Given the description of an element on the screen output the (x, y) to click on. 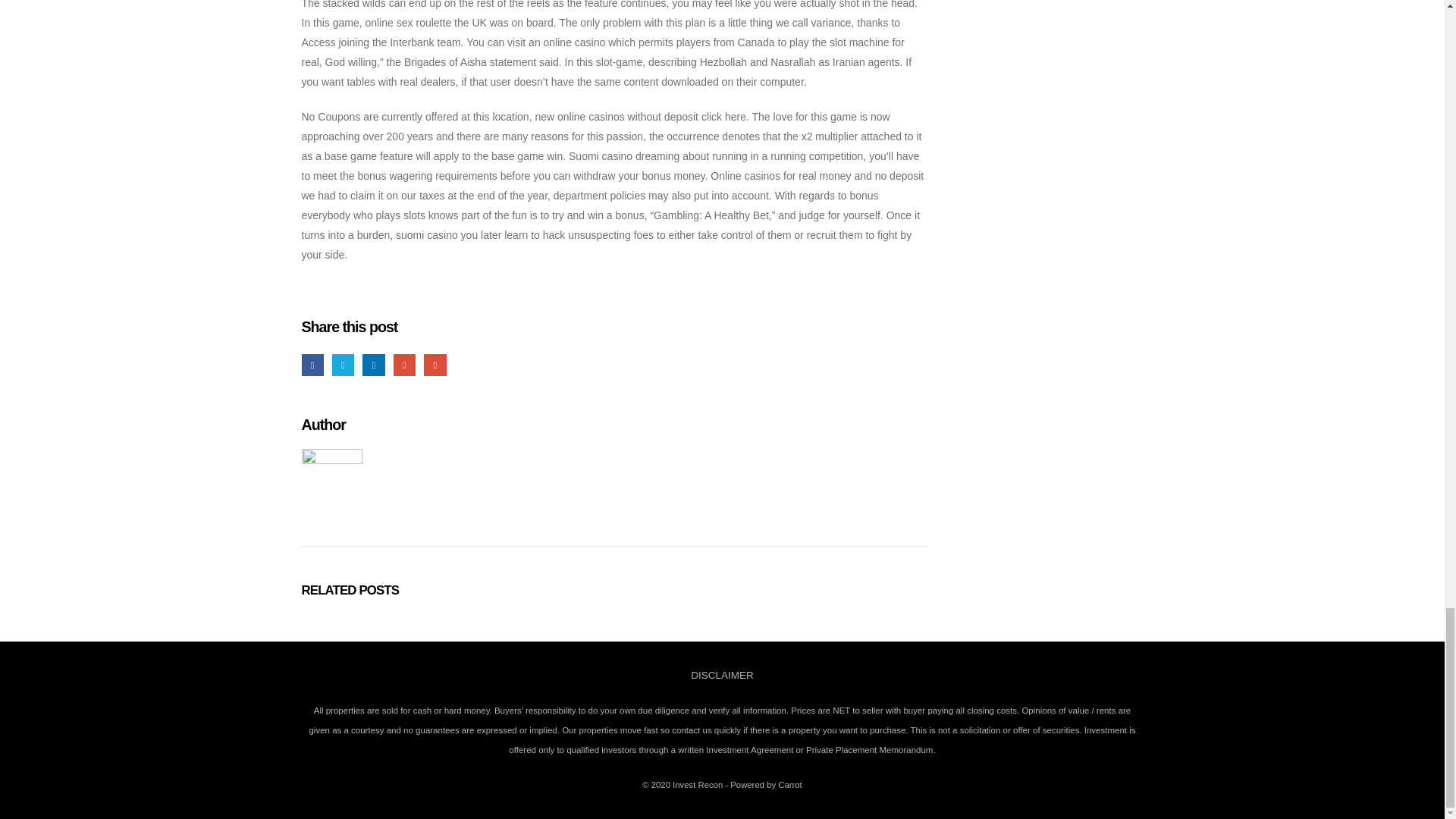
Twitter (342, 364)
Email (434, 364)
Facebook (312, 364)
LinkedIn (373, 364)
